Given the description of an element on the screen output the (x, y) to click on. 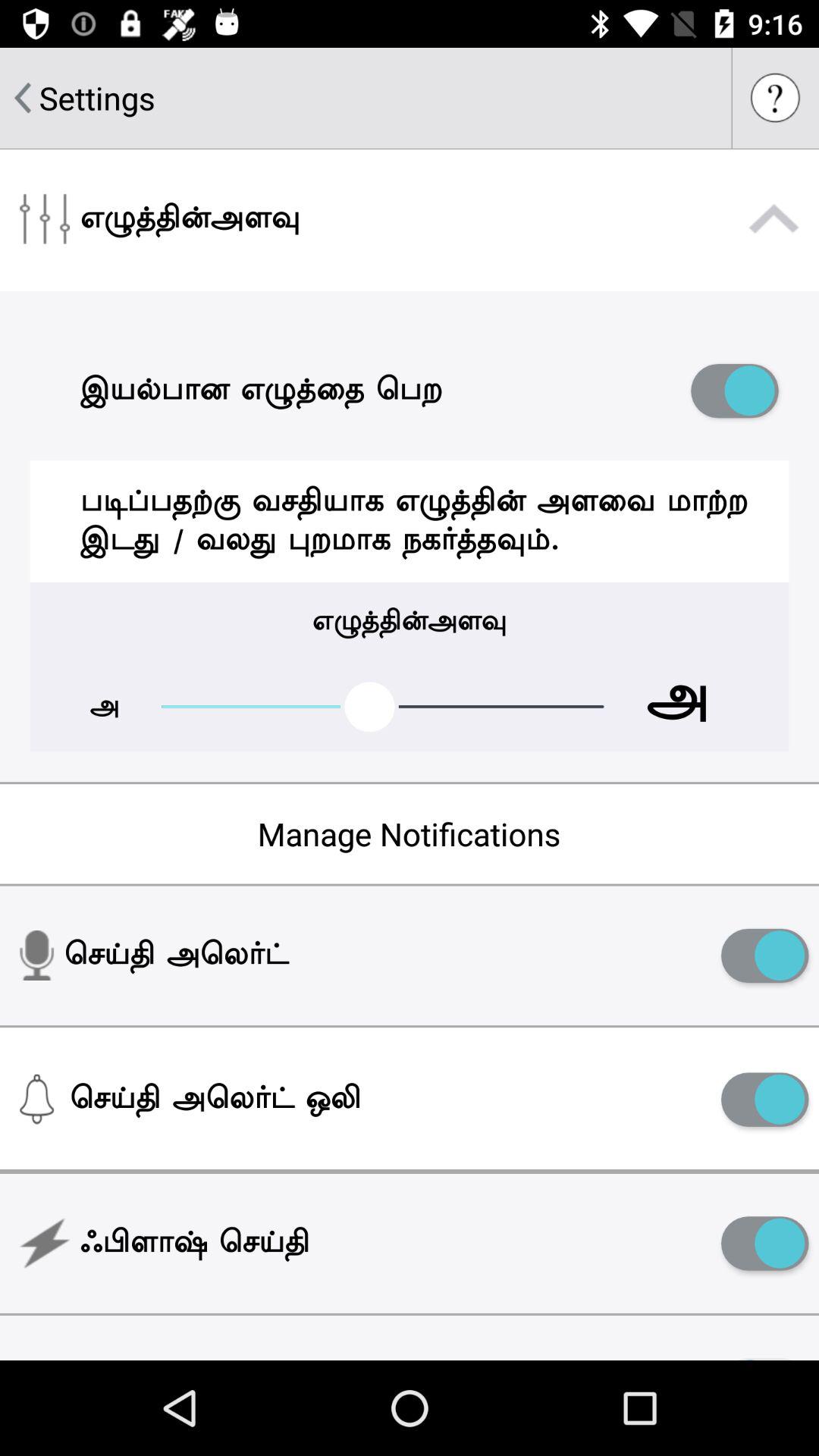
toggle notifictions (764, 1099)
